Given the description of an element on the screen output the (x, y) to click on. 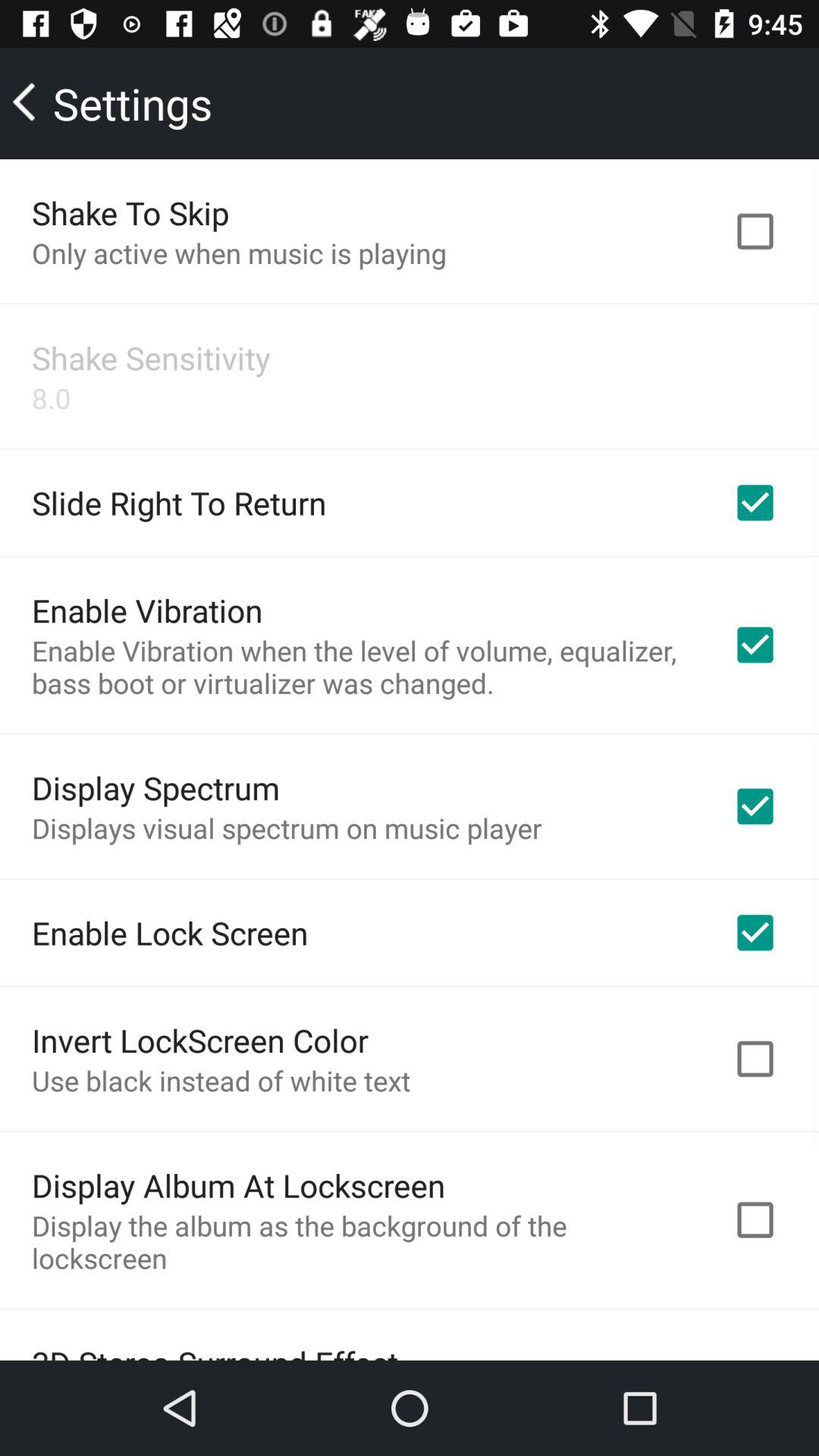
open use black instead app (220, 1080)
